Given the description of an element on the screen output the (x, y) to click on. 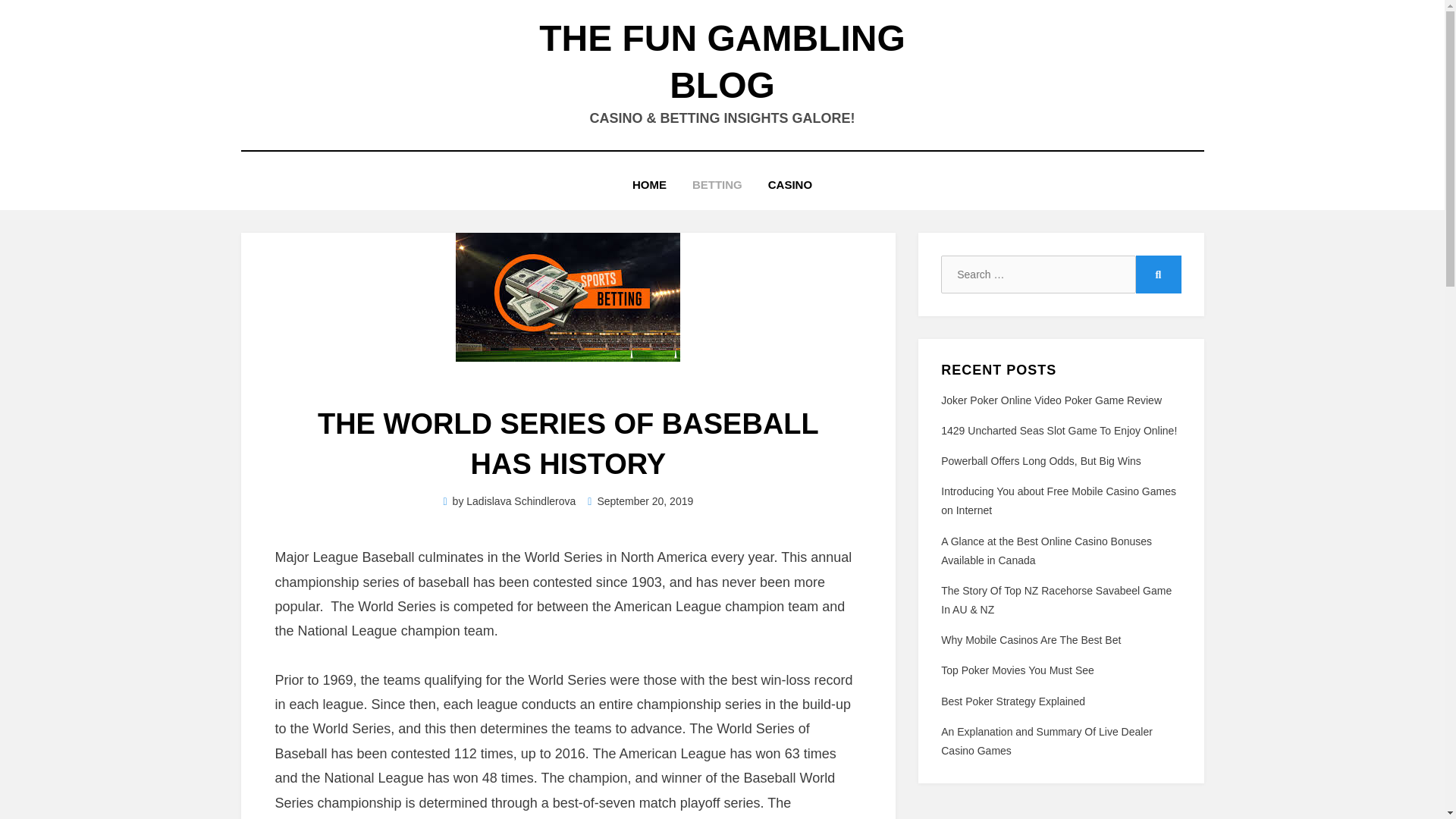
1429 Uncharted Seas Slot Game To Enjoy Online! (1058, 430)
Ladislava Schindlerova (520, 500)
Powerball Offers Long Odds, But Big Wins (1040, 460)
HOME (649, 184)
Top Poker Movies You Must See (1017, 670)
THE FUN GAMBLING BLOG (721, 61)
An Explanation and Summary Of Live Dealer Casino Games (1046, 740)
Best Poker Strategy Explained (1012, 701)
CASINO (790, 184)
September 20, 2019 (640, 500)
Joker Poker Online Video Poker Game Review (1050, 399)
Introducing You about Free Mobile Casino Games on Internet (1058, 500)
The Fun Gambling Blog (721, 61)
Search for: (1037, 274)
